Given the description of an element on the screen output the (x, y) to click on. 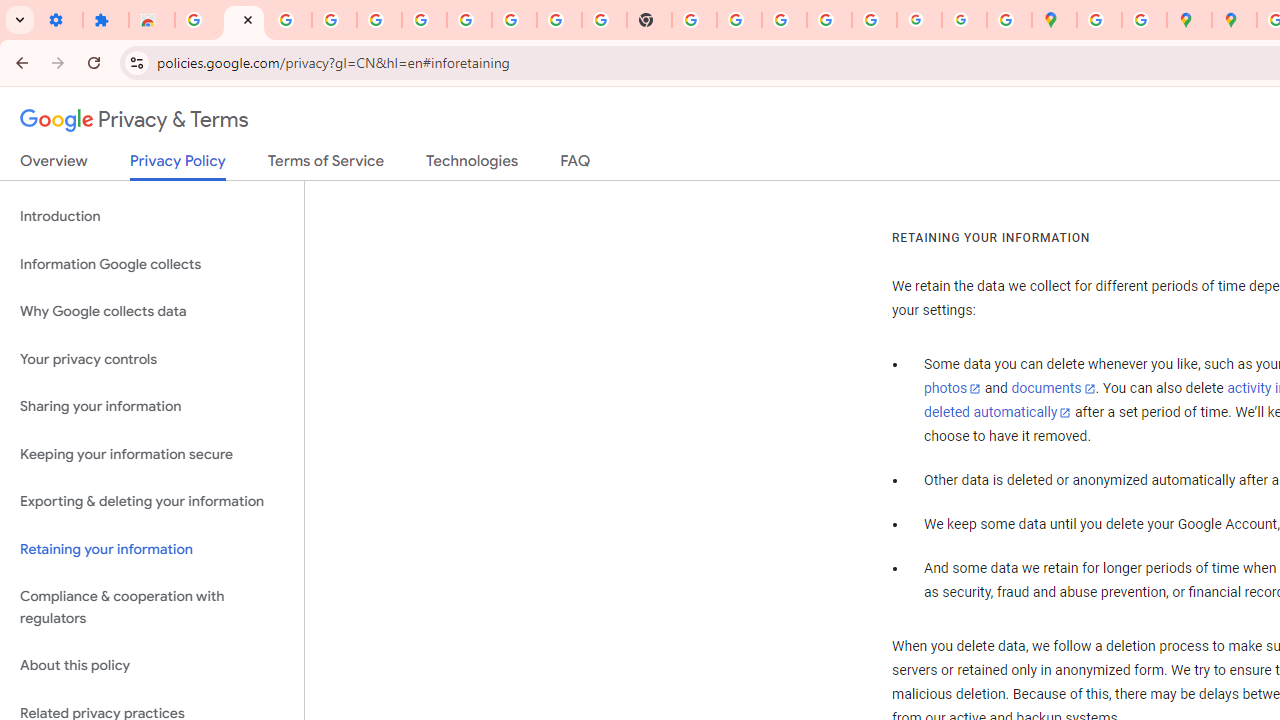
Sharing your information (152, 407)
Why Google collects data (152, 312)
Exporting & deleting your information (152, 502)
